Given the description of an element on the screen output the (x, y) to click on. 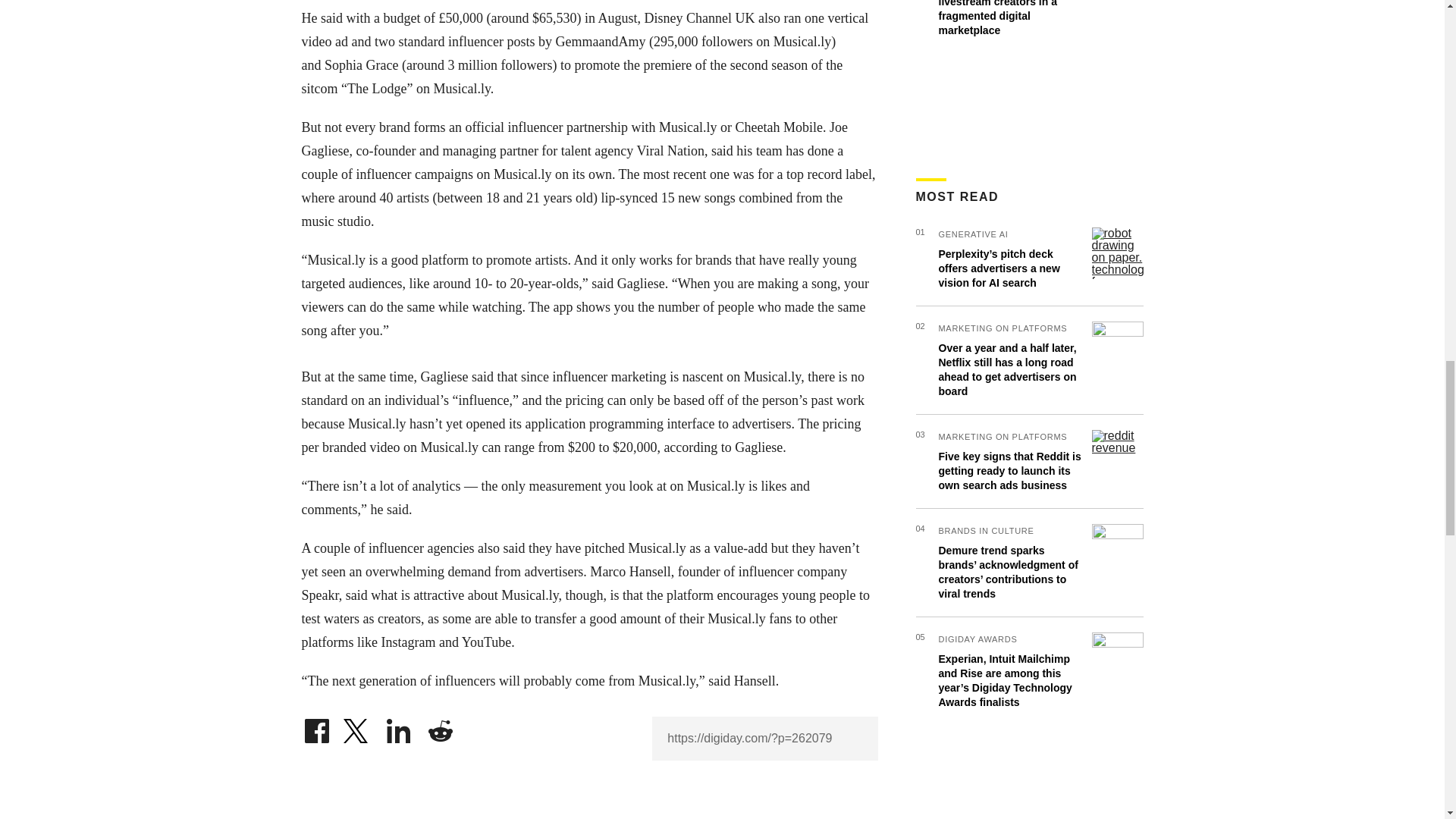
Share on LinkedIn (398, 726)
Share on Twitter (357, 726)
Share on Reddit (440, 726)
Share on Facebook (316, 726)
